Given the description of an element on the screen output the (x, y) to click on. 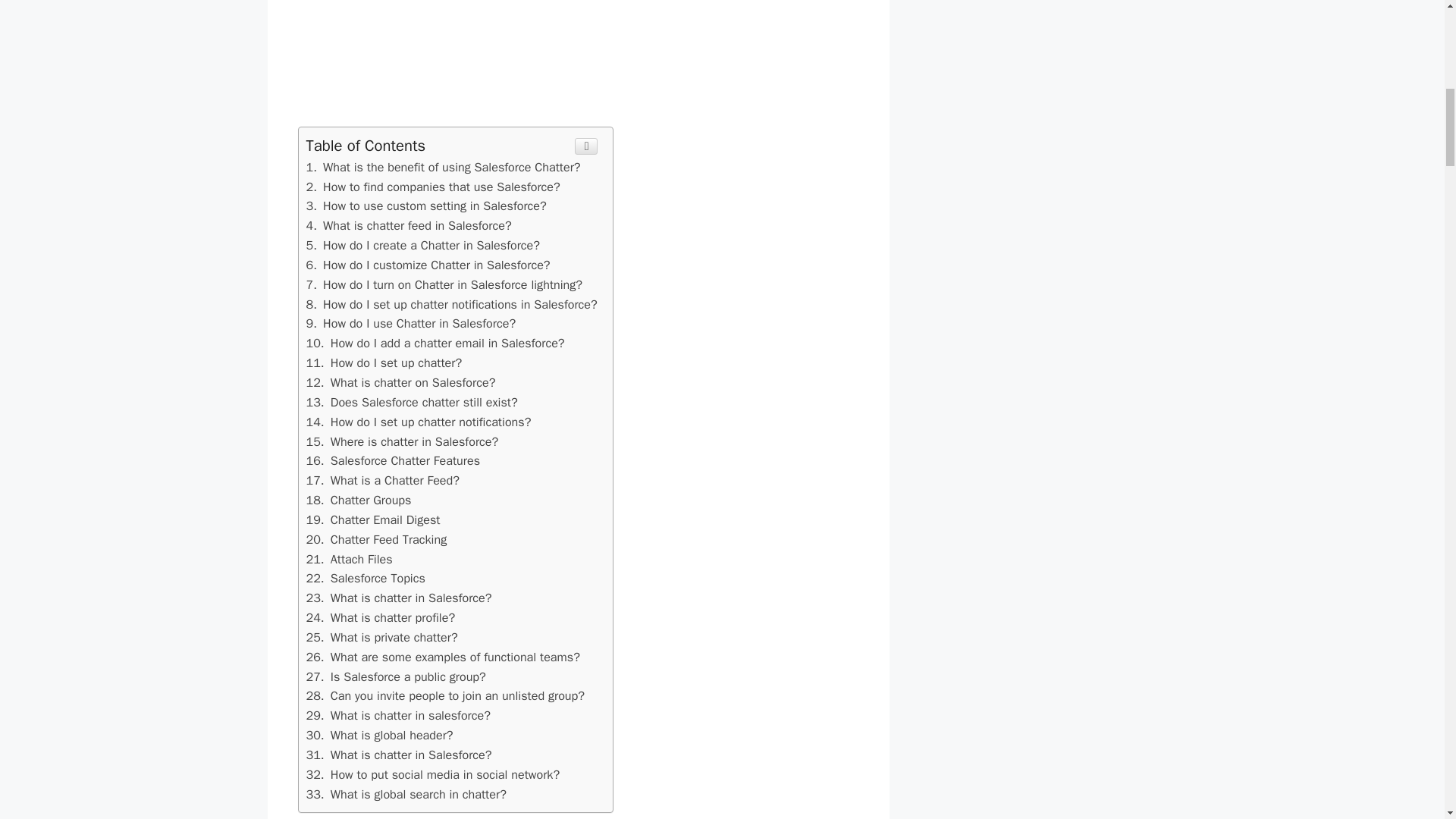
What are some examples of functional teams? (442, 657)
What is chatter on Salesforce? (400, 382)
Attach Files (349, 559)
Chatter Feed Tracking (375, 539)
Is Salesforce a public group? (395, 676)
How do I turn on Chatter in Salesforce lightning? (444, 284)
How do I set up chatter notifications in Salesforce? (450, 304)
Where is chatter in Salesforce? (402, 441)
What is global search in chatter? (384, 362)
How to find companies that use Salesforce? (405, 794)
What is chatter in Salesforce? (432, 186)
What is the benefit of using Salesforce Chatter? (398, 754)
What is chatter feed in Salesforce? (442, 166)
